Given the description of an element on the screen output the (x, y) to click on. 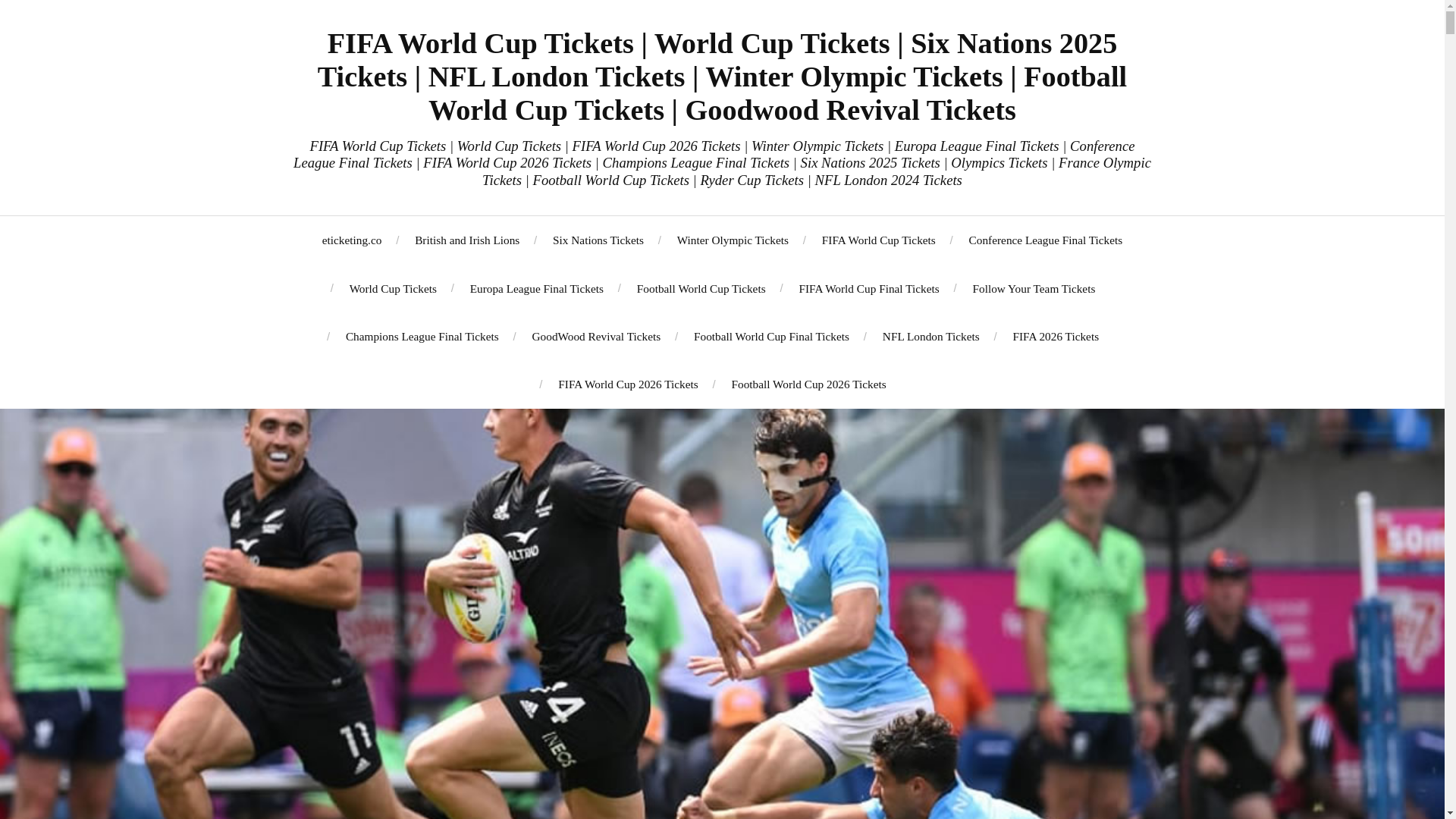
Six Nations Tickets (598, 239)
World Cup Tickets (392, 288)
NFL London Tickets (930, 336)
Football World Cup Final Tickets (771, 336)
Europa League Final Tickets (537, 288)
FIFA World Cup Final Tickets (868, 288)
Winter Olympic Tickets (733, 239)
eticketing.co (351, 239)
FIFA World Cup 2026 Tickets (627, 383)
Champions League Final Tickets (422, 336)
